Given the description of an element on the screen output the (x, y) to click on. 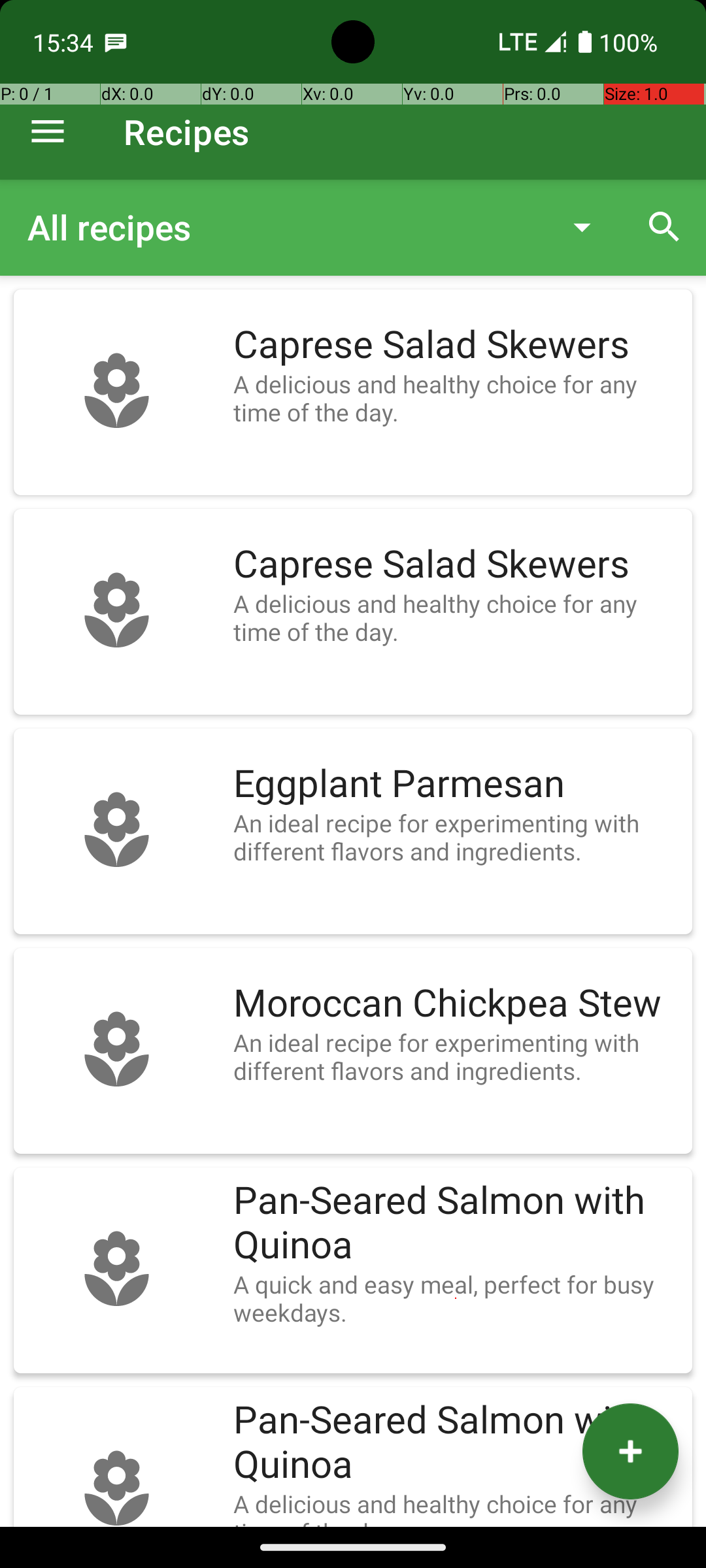
Pan-Seared Salmon with Quinoa Element type: android.widget.TextView (455, 1222)
